Given the description of an element on the screen output the (x, y) to click on. 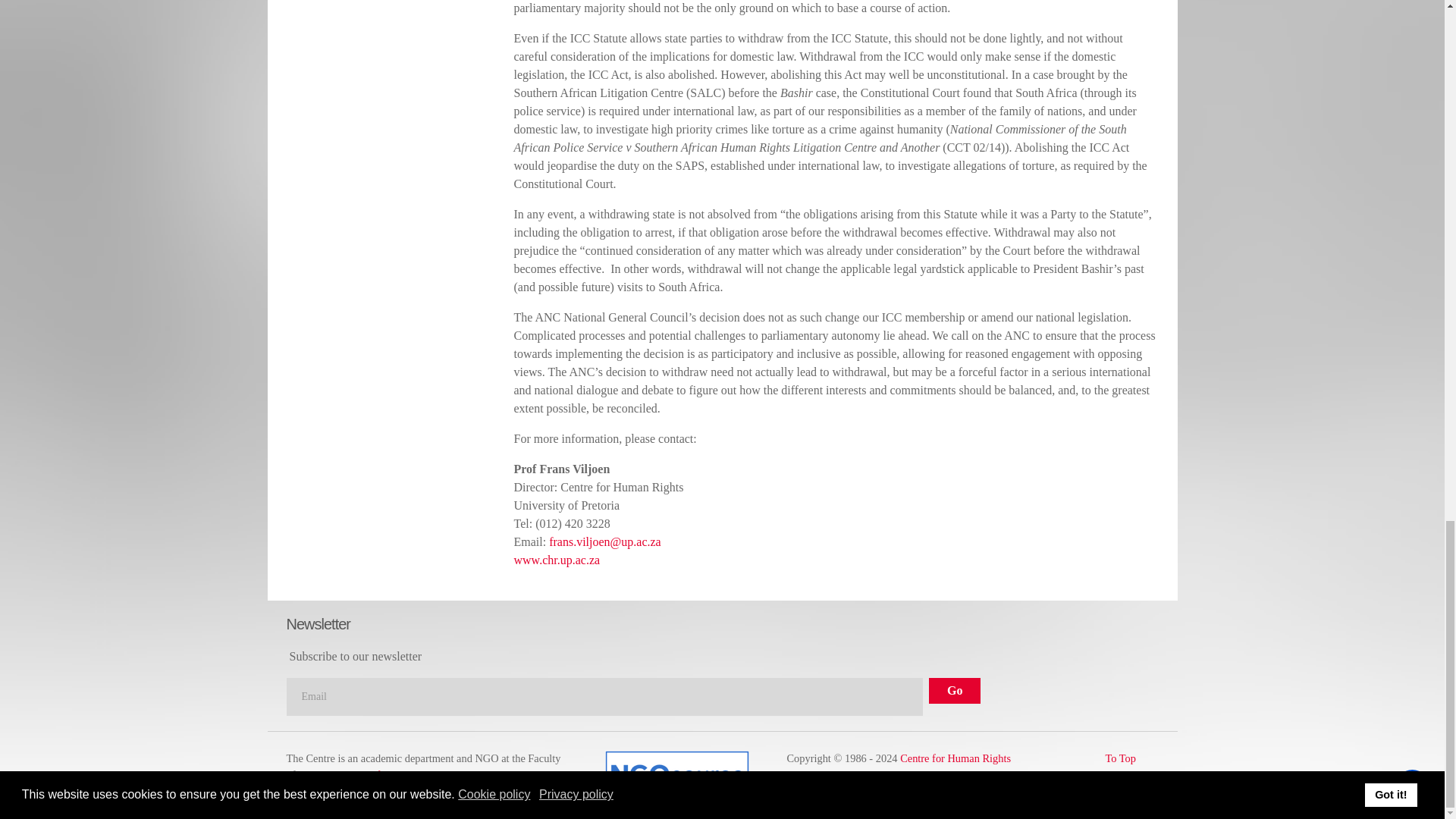
Centre for Human Rights (954, 758)
Go (953, 690)
University of Pretoria (369, 774)
